Given the description of an element on the screen output the (x, y) to click on. 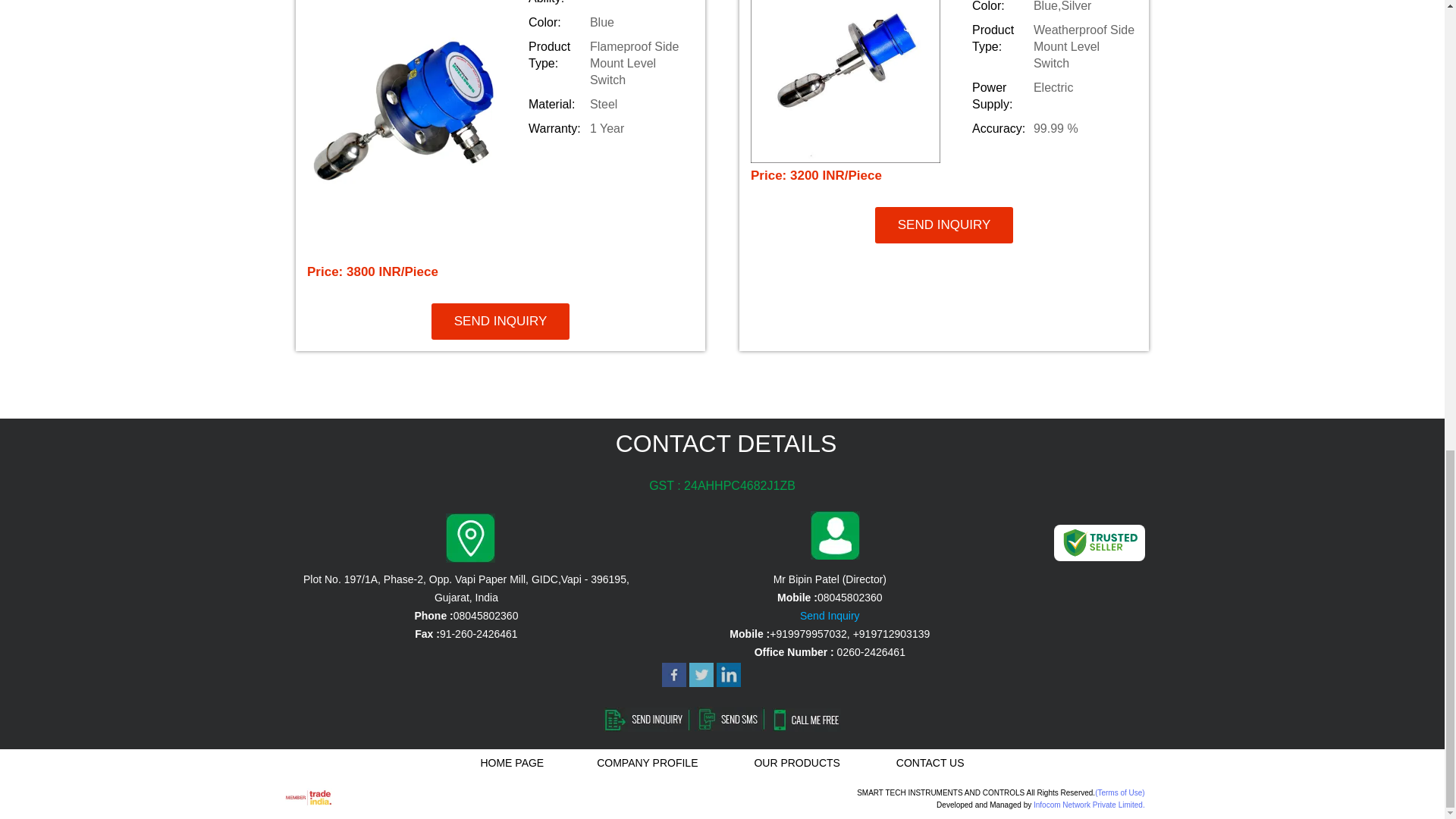
Supply Ability: 500 Per Week (610, 3)
Color: Blue (610, 22)
